Given the description of an element on the screen output the (x, y) to click on. 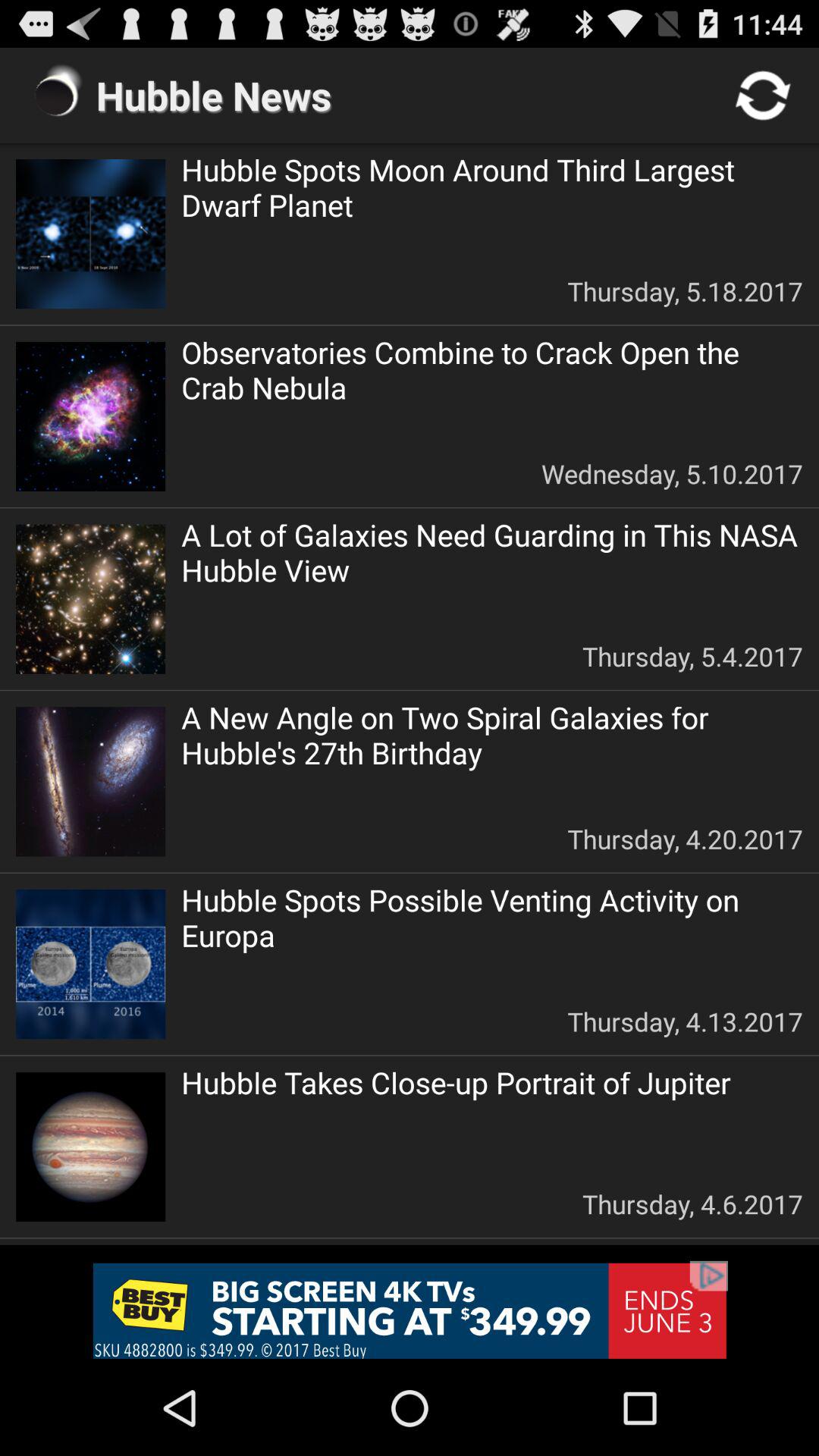
click on the icon beside the text hubble spots possible venting activity on europa (90, 964)
